Given the description of an element on the screen output the (x, y) to click on. 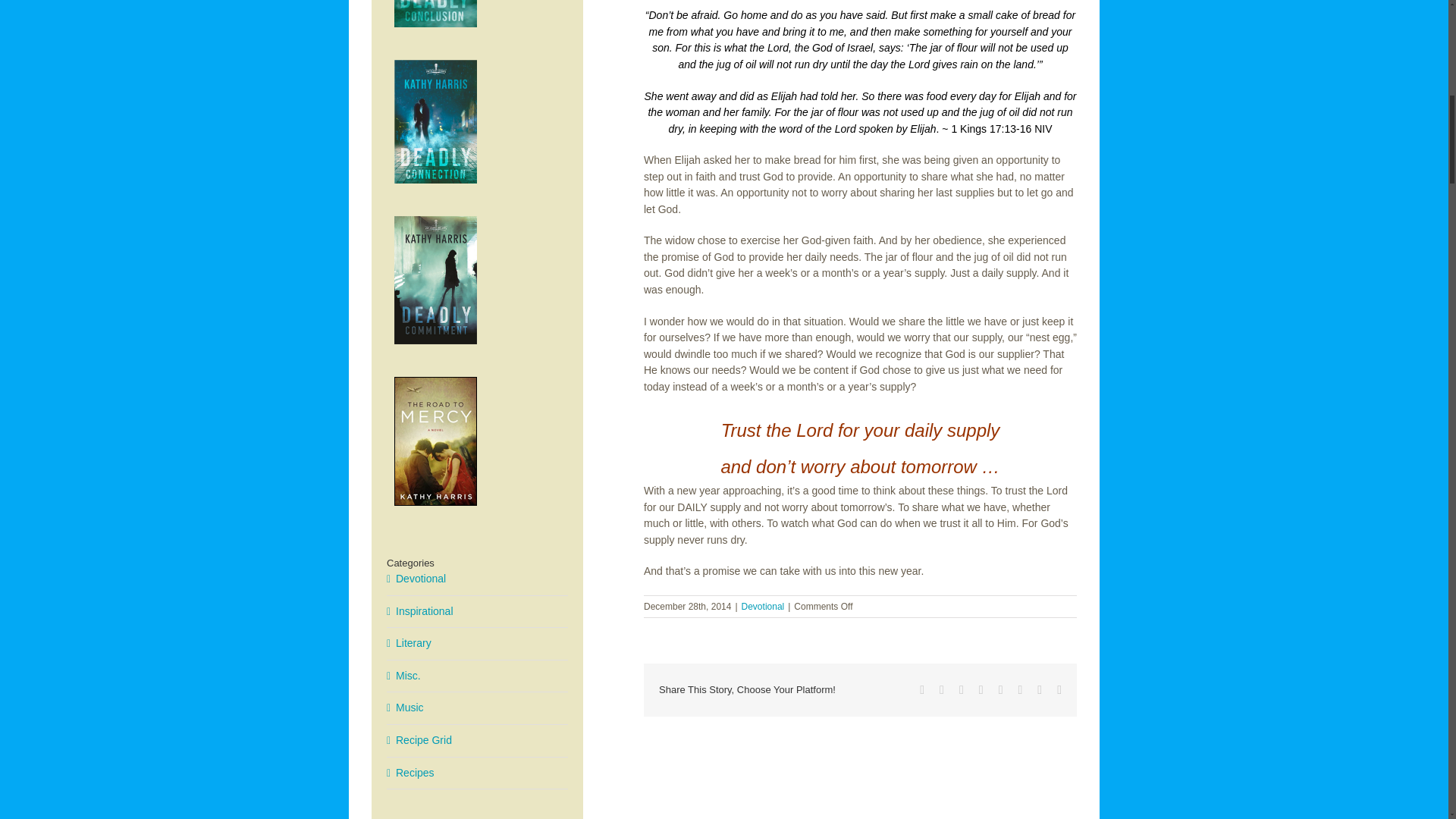
Devotional (762, 606)
Vk (1039, 689)
Pinterest (1019, 689)
Reddit (961, 689)
Facebook (922, 689)
LinkedIn (981, 689)
Email (1059, 689)
Twitter (941, 689)
Tumblr (1000, 689)
